Given the description of an element on the screen output the (x, y) to click on. 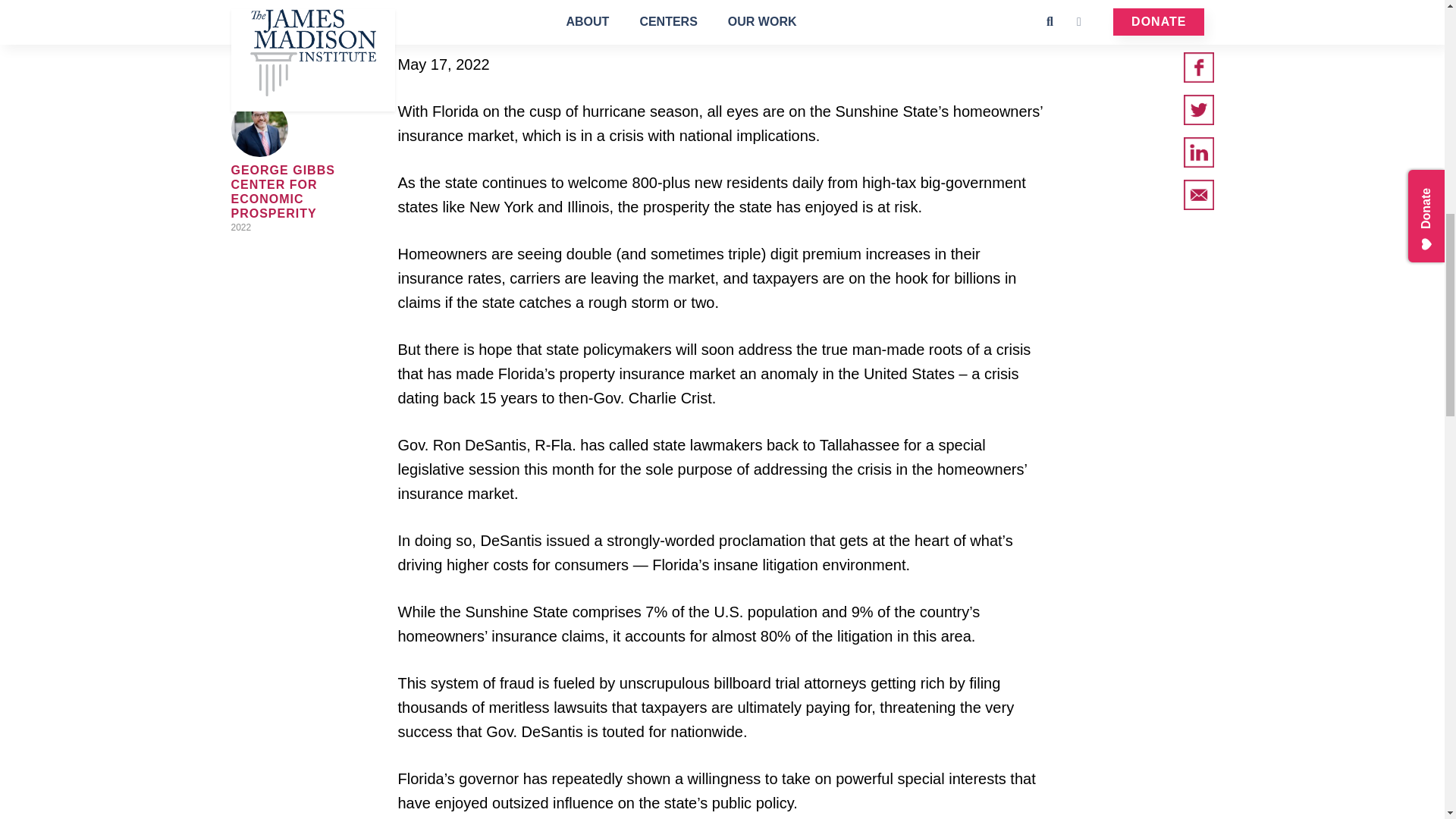
GEORGE GIBBS CENTER FOR ECONOMIC PROSPERITY (282, 191)
